Given the description of an element on the screen output the (x, y) to click on. 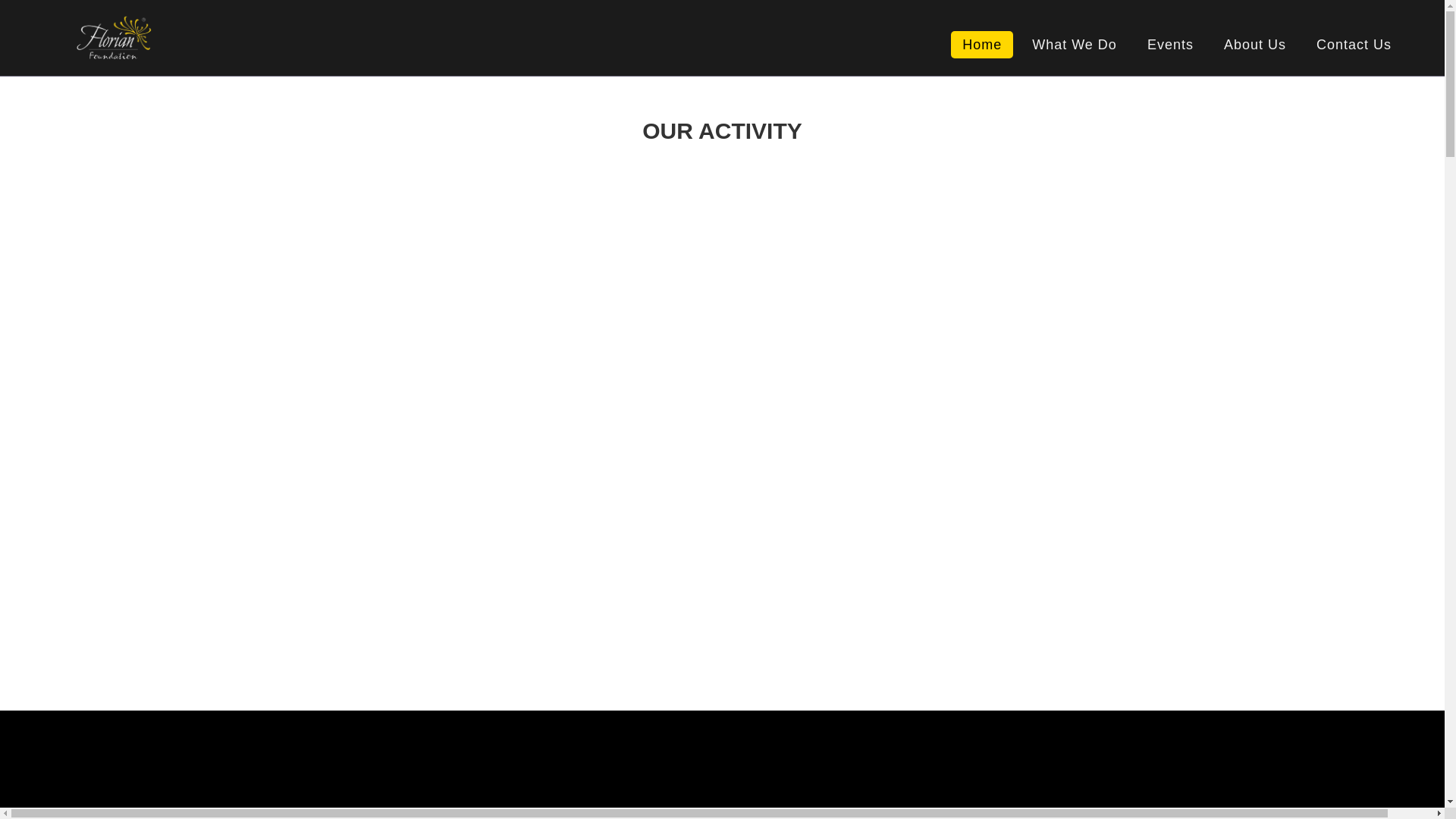
Home (981, 44)
About Us (1254, 44)
What We Do (1074, 44)
Contact Us (1353, 44)
Events (1170, 44)
